Given the description of an element on the screen output the (x, y) to click on. 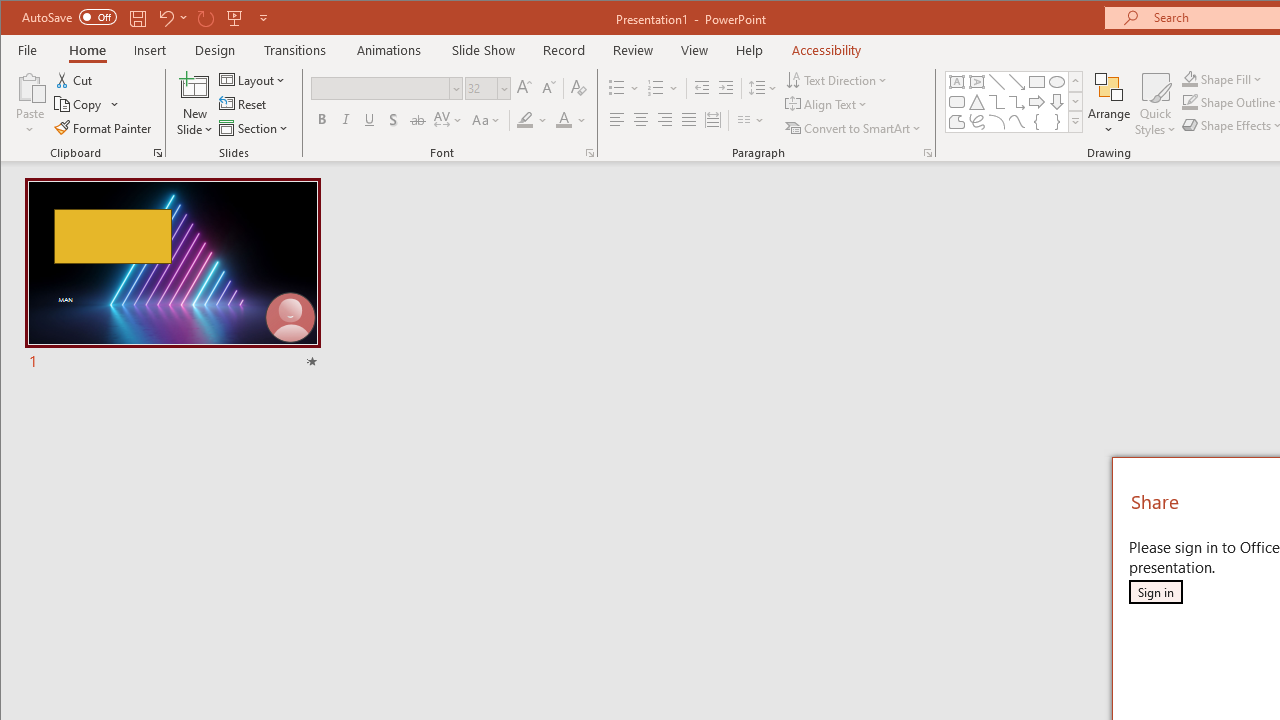
Connector: Elbow (996, 102)
Underline (369, 119)
Vertical Text Box (976, 82)
Curve (1016, 121)
Format Painter (104, 127)
Arc (996, 121)
Shape Outline Blue, Accent 1 (1189, 101)
Justify (689, 119)
Increase Indent (726, 88)
Arrange (1108, 104)
Rectangle (1036, 82)
